Given the description of an element on the screen output the (x, y) to click on. 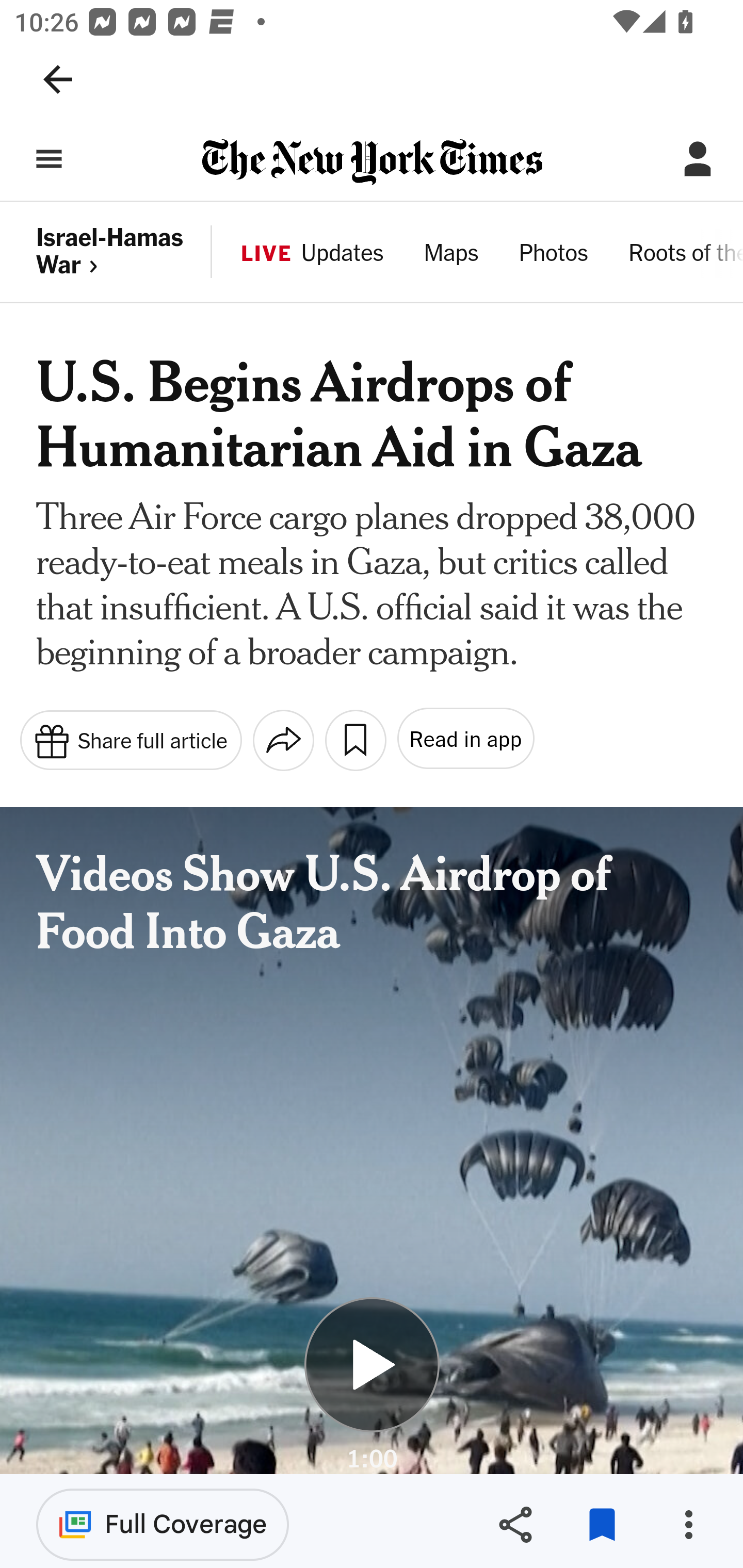
Navigate up (57, 79)
SEARCH & SECTION NAVIGATION (48, 159)
Log in (697, 159)
New York Times homepage (371, 162)
Israel-Hamas War› Israel-Hamas War › (124, 251)
Updates (341, 254)
Maps (451, 254)
Photos (552, 254)
More sharing options ... (283, 740)
Save article for reading later... (355, 740)
Read in app (464, 738)
Share full article (129, 738)
Share (514, 1524)
Remove from saved stories (601, 1524)
More options (688, 1524)
Full Coverage (162, 1524)
